Given the description of an element on the screen output the (x, y) to click on. 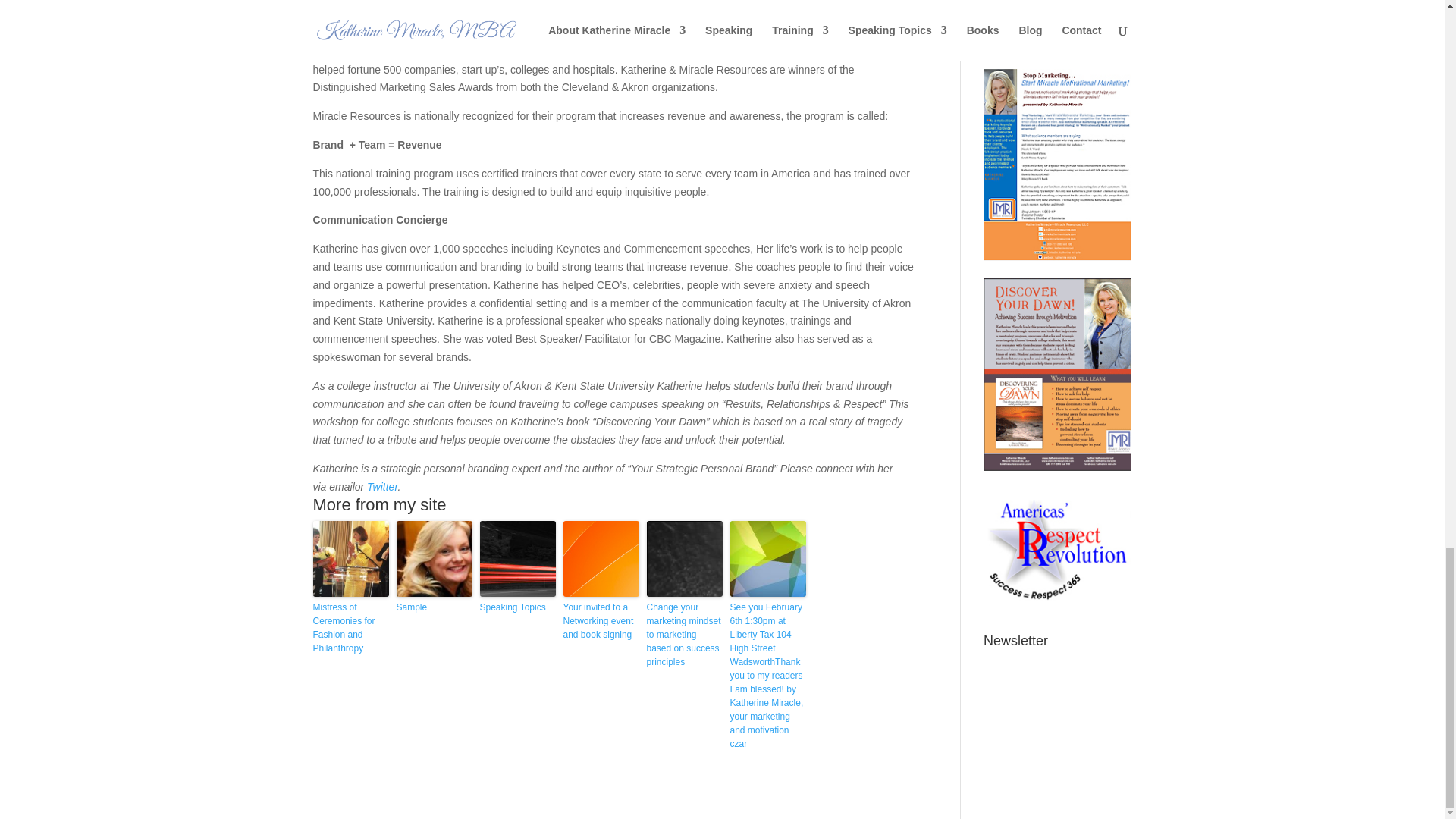
Twitter (381, 486)
Your invited to a Networking event and book signing (600, 620)
Sample (433, 607)
Mistress of Ceremonies for Fashion and Philanthropy (350, 627)
Speaking Topics (516, 607)
